Given the description of an element on the screen output the (x, y) to click on. 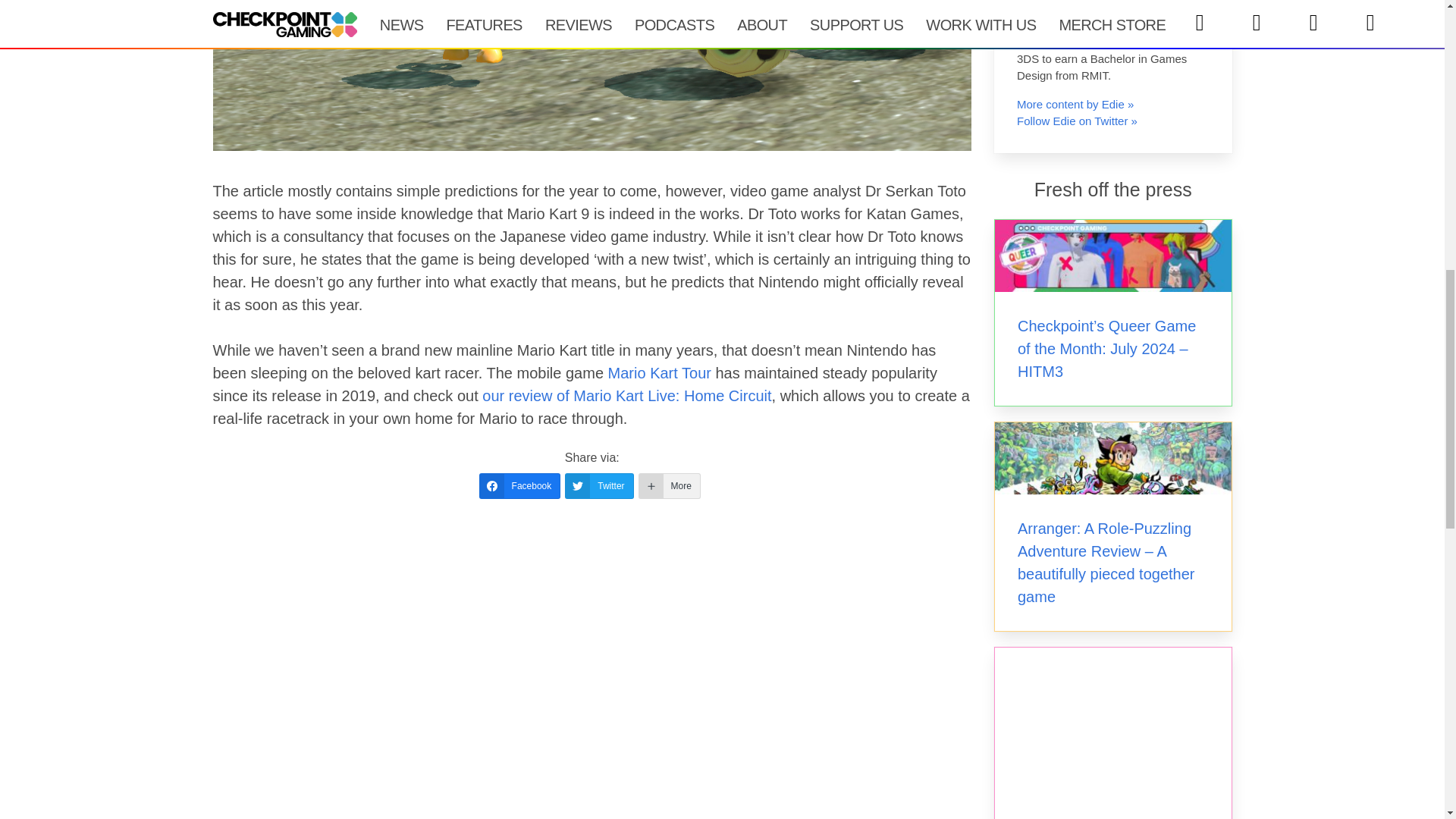
Facebook (519, 485)
Twitter (598, 485)
Mario Kart Tour (659, 372)
More (669, 485)
our review of Mario Kart Live: Home Circuit (626, 395)
